Given the description of an element on the screen output the (x, y) to click on. 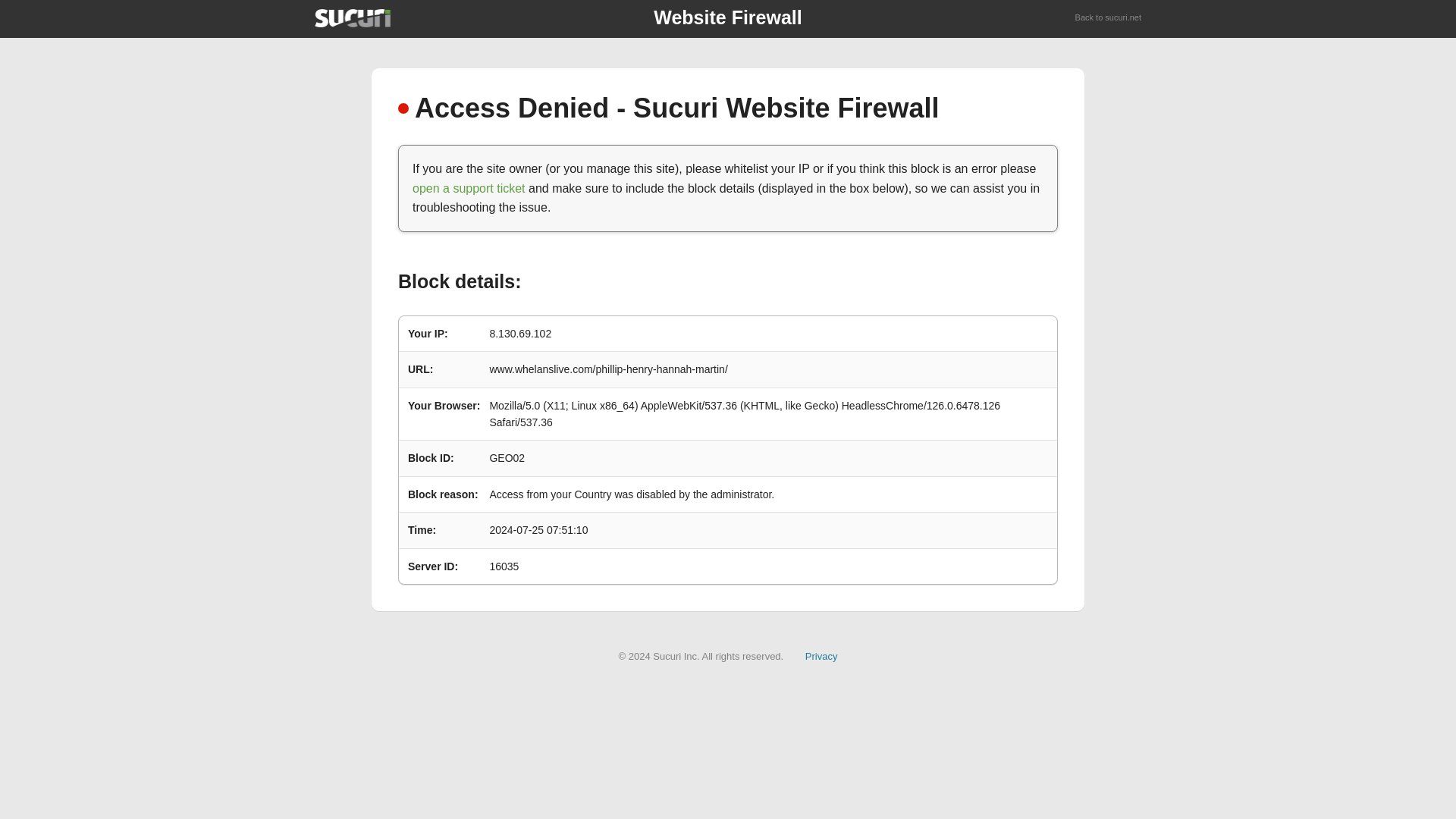
open a support ticket (468, 187)
Privacy (821, 655)
Back to sucuri.net (1108, 18)
